Given the description of an element on the screen output the (x, y) to click on. 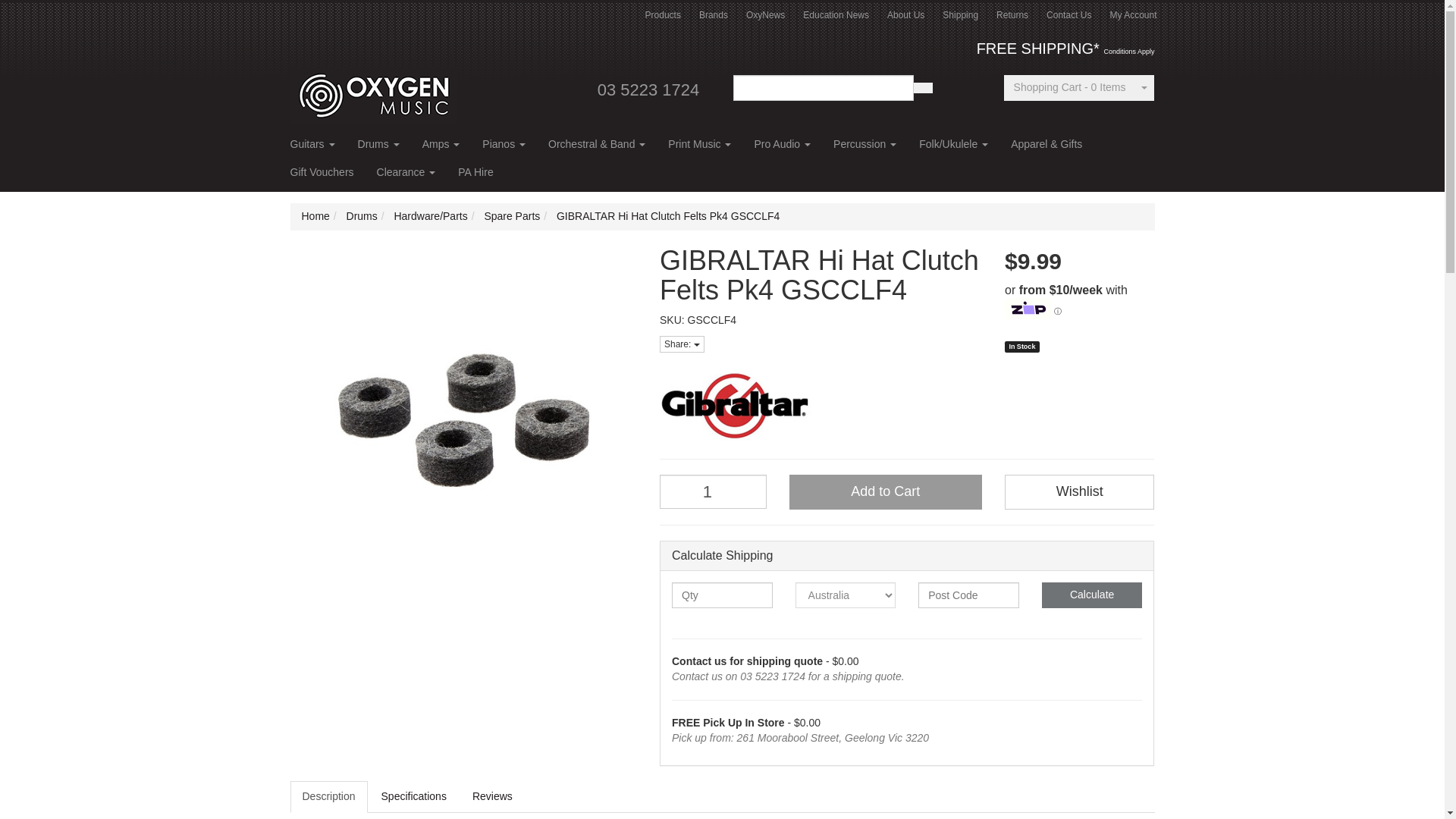
GIBRALTAR (906, 405)
Education News (835, 15)
Shopping Cart - 0 Items (1069, 87)
Search (922, 87)
OxyNews (764, 15)
Guitars (312, 148)
Returns (1011, 15)
About Us (905, 15)
Shipping (960, 15)
Brands (713, 15)
Oxygen Music (373, 90)
Contact Us (1068, 15)
Calculate (1092, 595)
1 (713, 491)
Add to Cart (885, 492)
